Given the description of an element on the screen output the (x, y) to click on. 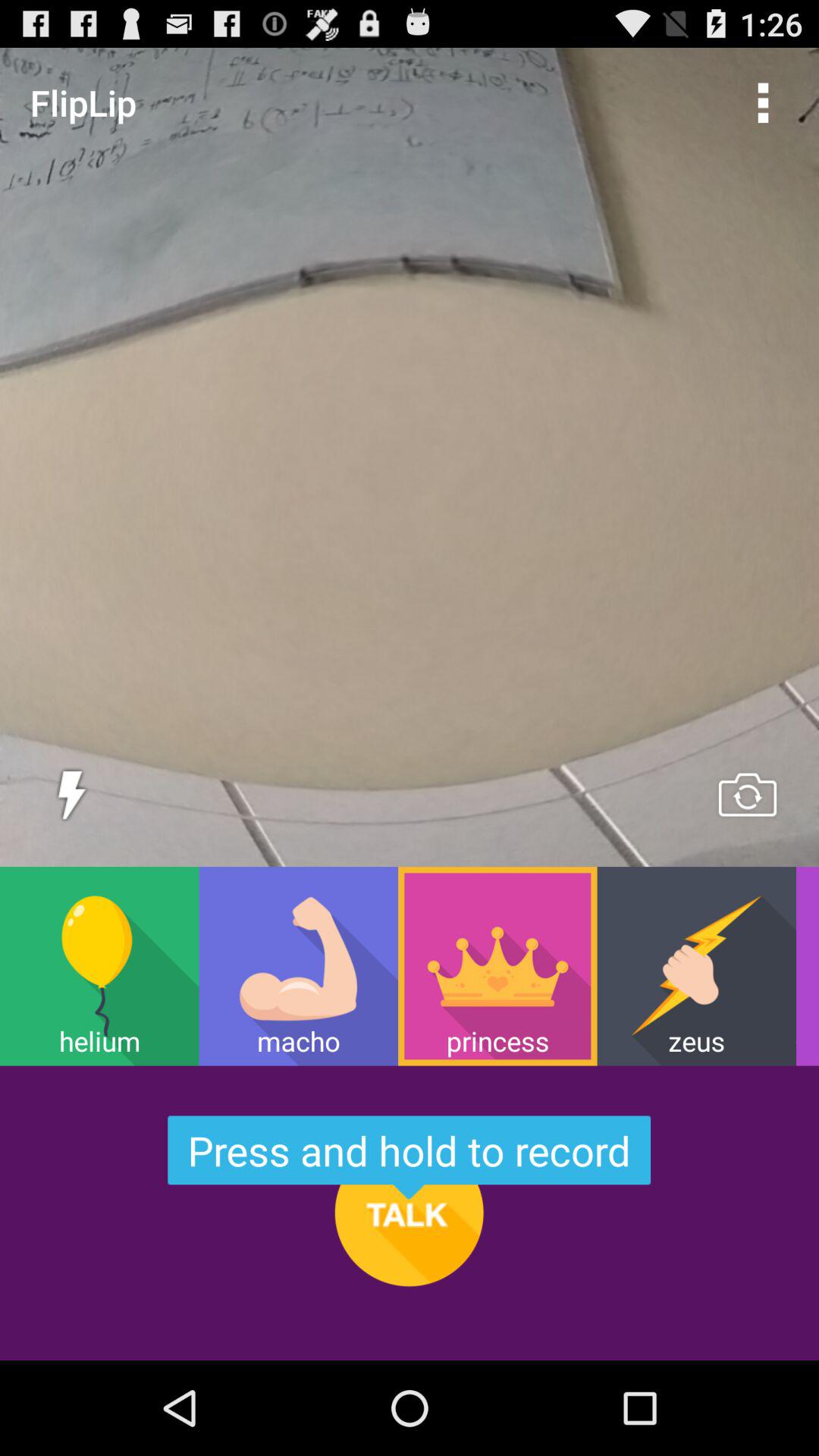
jump until wacko item (807, 965)
